Given the description of an element on the screen output the (x, y) to click on. 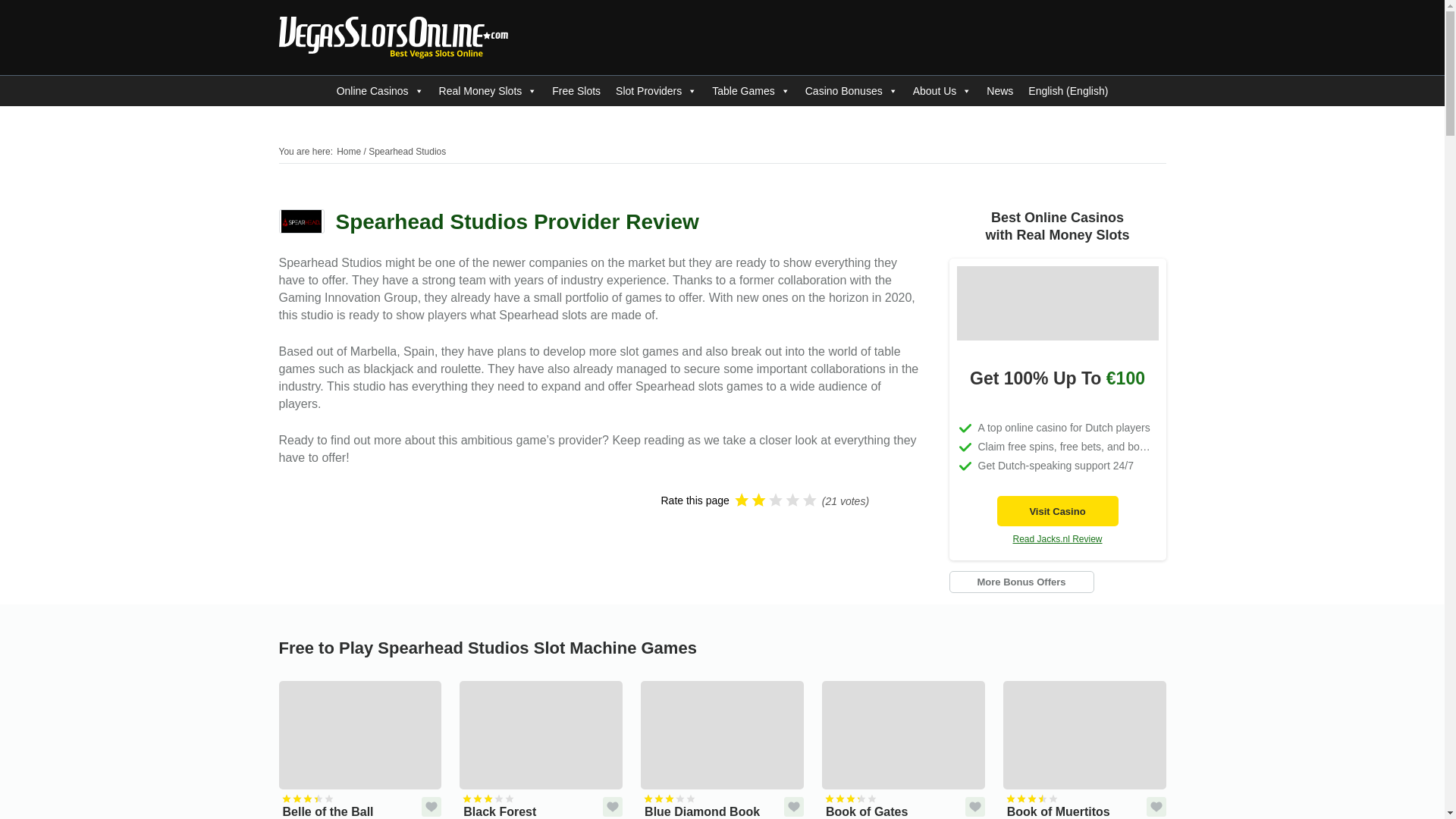
Belle of the Ball (360, 749)
Book of Gates (903, 749)
Table Games (750, 91)
Online Casinos (379, 91)
Blue Diamond Book (721, 749)
Free Slots (576, 91)
Black Forest (541, 749)
English (1067, 91)
Slot Providers (656, 91)
Book of Muertitos (1084, 749)
Real Money Slots (487, 91)
